Given the description of an element on the screen output the (x, y) to click on. 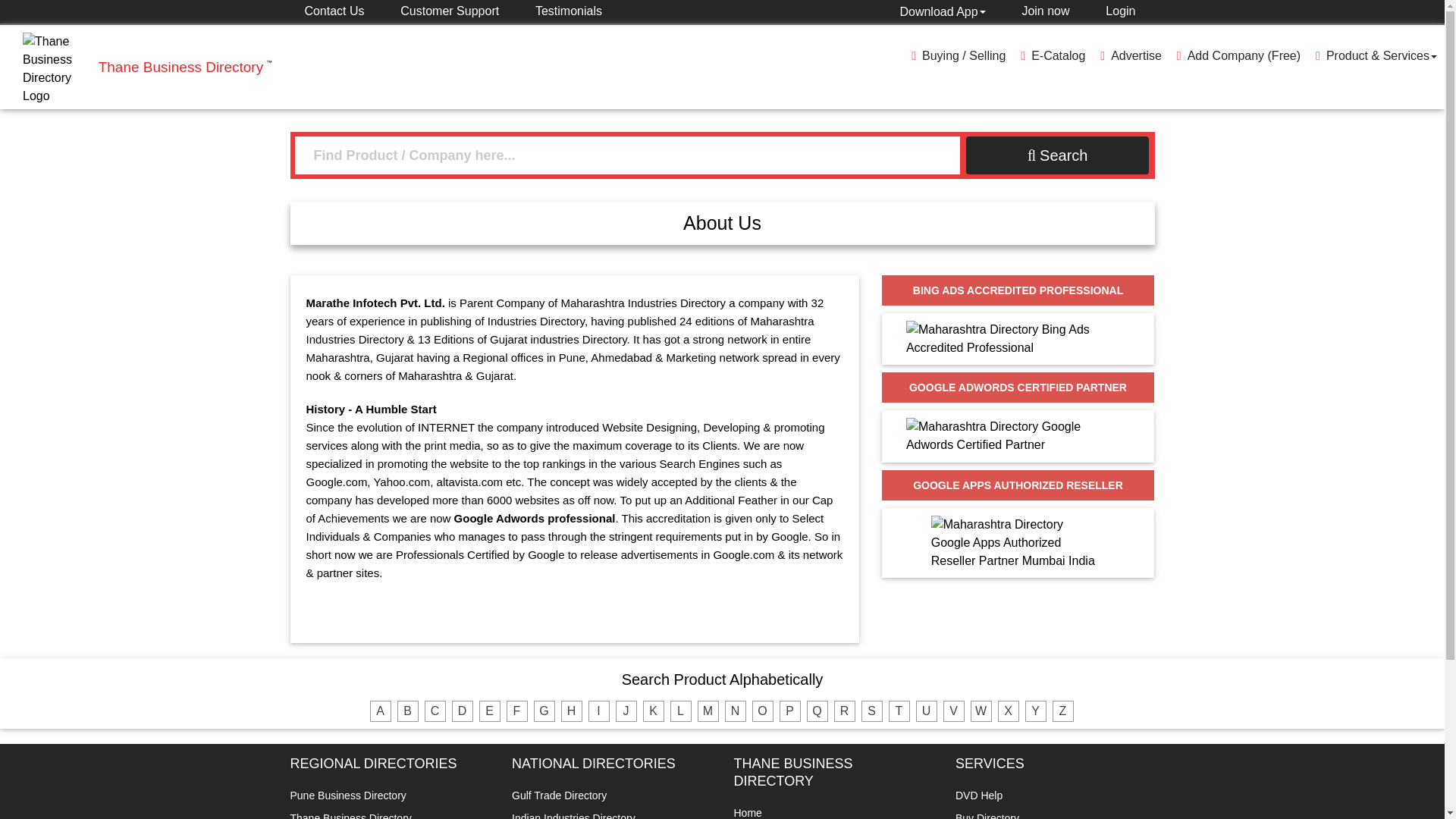
Testimonials (561, 10)
Thane Business Directory (185, 67)
Maharashtra Directory Bing Ads Accredited Professional (1017, 338)
Thane Business Directory (58, 68)
D (462, 711)
Maharashtra Directory Google Adwords Certified Partner (1017, 435)
Download App (942, 10)
I (599, 711)
Contact Us (295, 11)
